Given the description of an element on the screen output the (x, y) to click on. 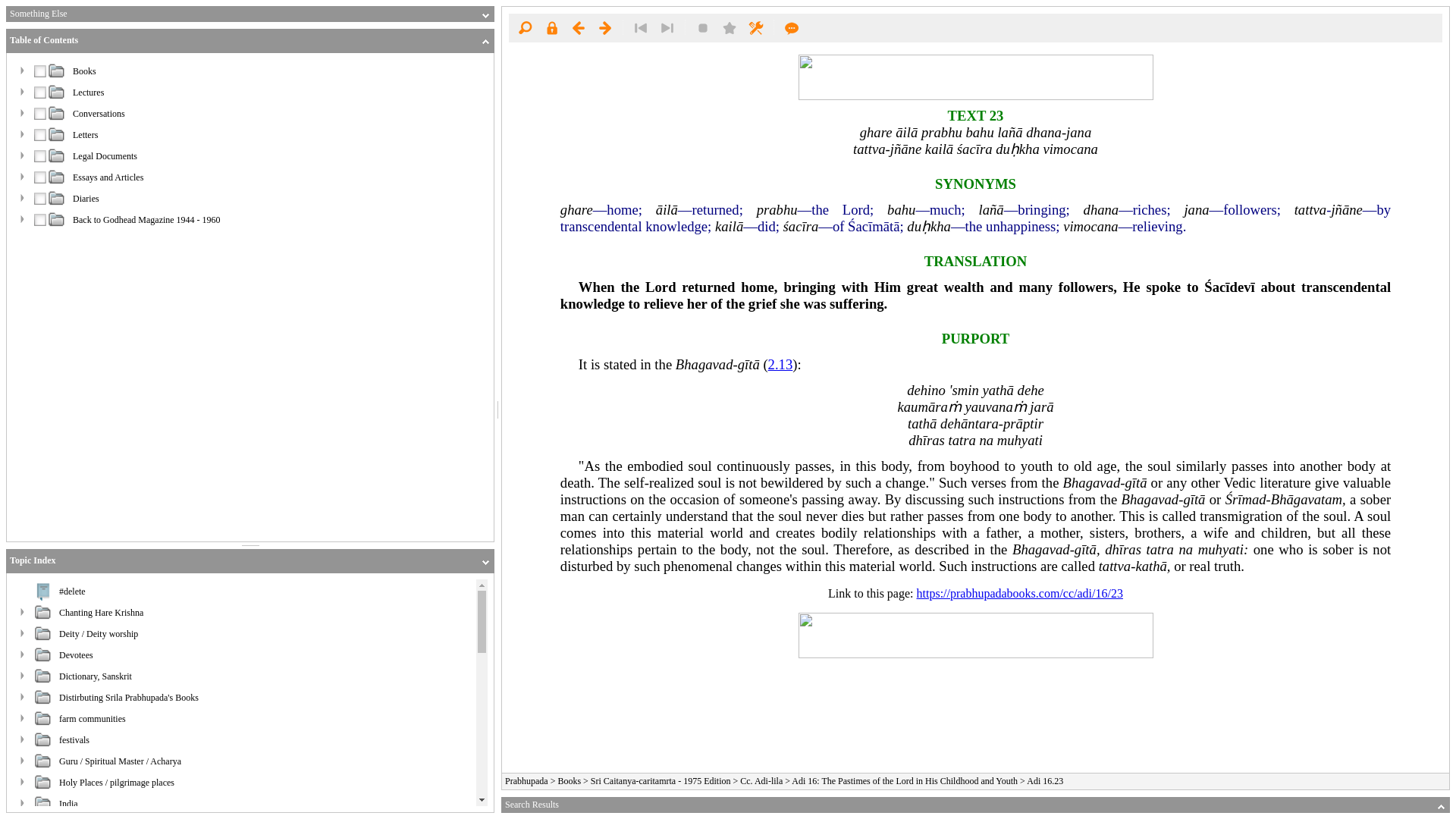
Next Document (604, 27)
Previous Search Hit (640, 27)
Highlight Text (703, 27)
Bookmark (729, 27)
Login (551, 27)
Help (791, 27)
Search (525, 27)
Next Search Hit (666, 27)
Previous Document (578, 27)
Settings (755, 27)
